Given the description of an element on the screen output the (x, y) to click on. 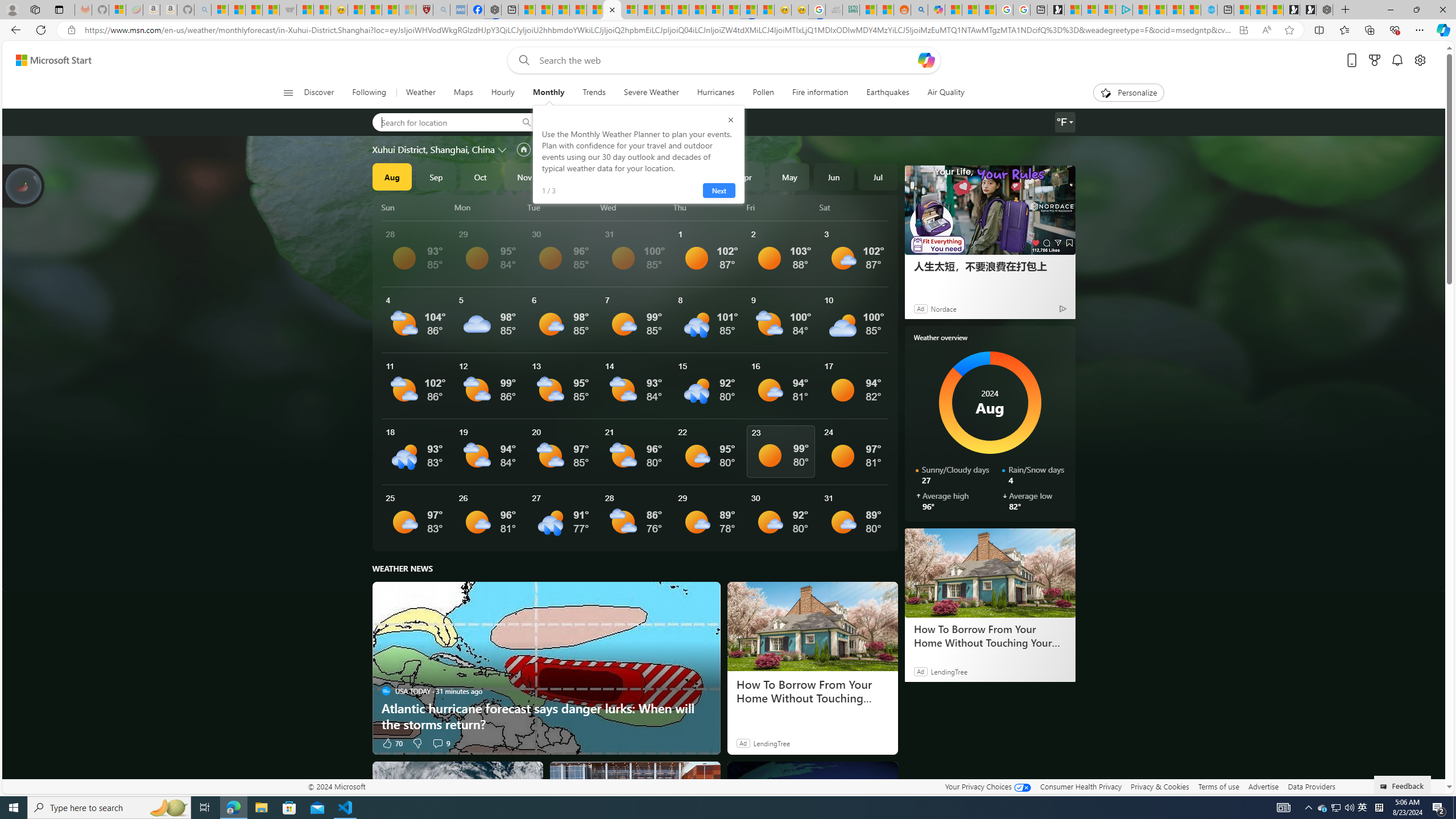
Pollen (763, 92)
Microsoft Copilot in Bing (936, 9)
70 Like (392, 742)
Pollen (763, 92)
Skip to footer (46, 59)
Terms of use (1218, 786)
Set as primary location (522, 149)
